Given the description of an element on the screen output the (x, y) to click on. 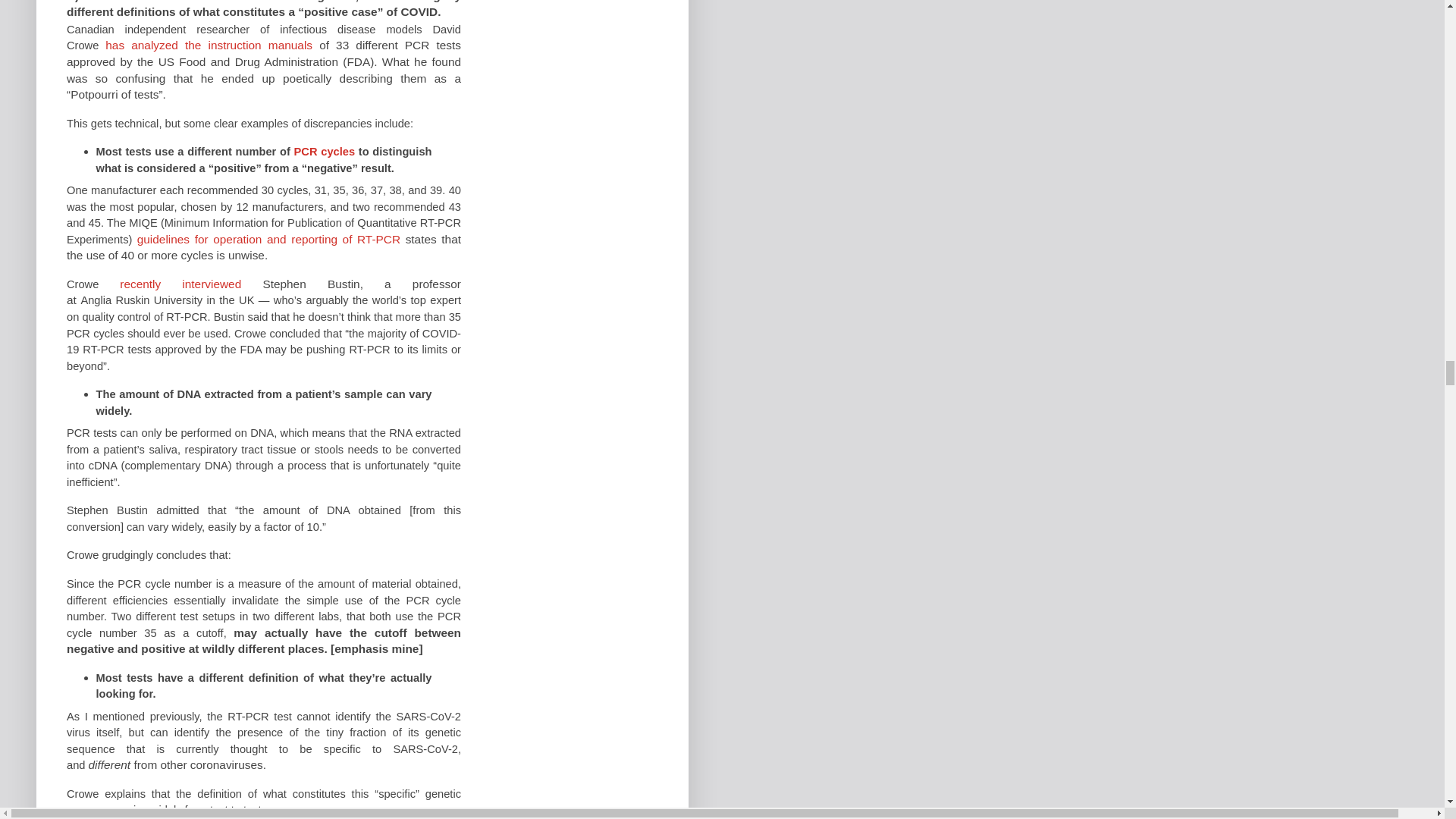
recently interviewed (180, 283)
guidelines for operation and reporting of RT-PCR (268, 238)
PCR cycles (324, 151)
has analyzed the instruction manuals (208, 44)
